Given the description of an element on the screen output the (x, y) to click on. 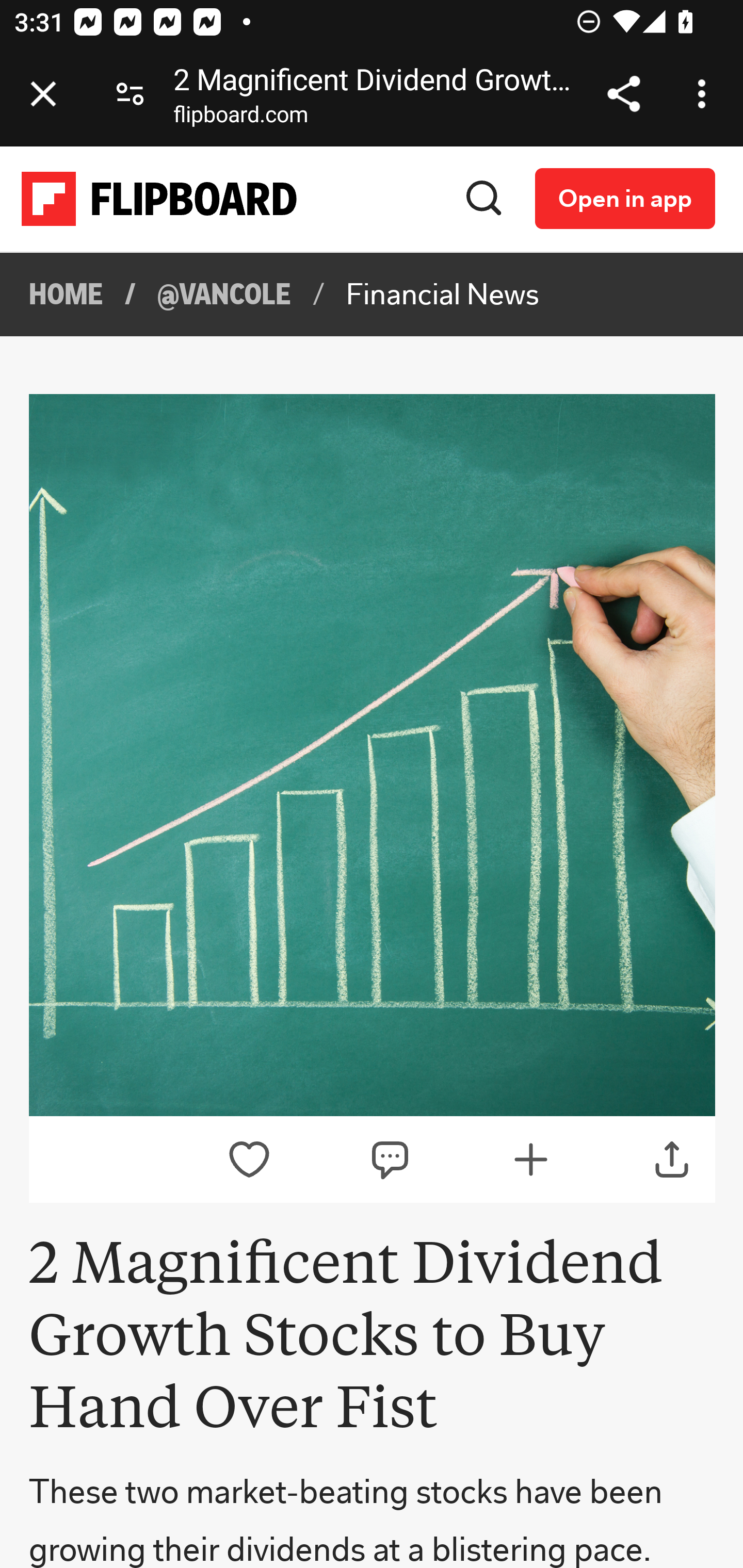
Close tab (43, 93)
Share link address (623, 93)
Customize and control Google Chrome (705, 93)
Connection is secure (129, 93)
flipboard.com (240, 117)
Open in app (625, 197)
Search (484, 198)
HOME (66, 294)
@VANCOLE (224, 294)
Financial News (441, 294)
Like (248, 1160)
comment (390, 1160)
Flip (530, 1160)
Share (672, 1160)
